Given the description of an element on the screen output the (x, y) to click on. 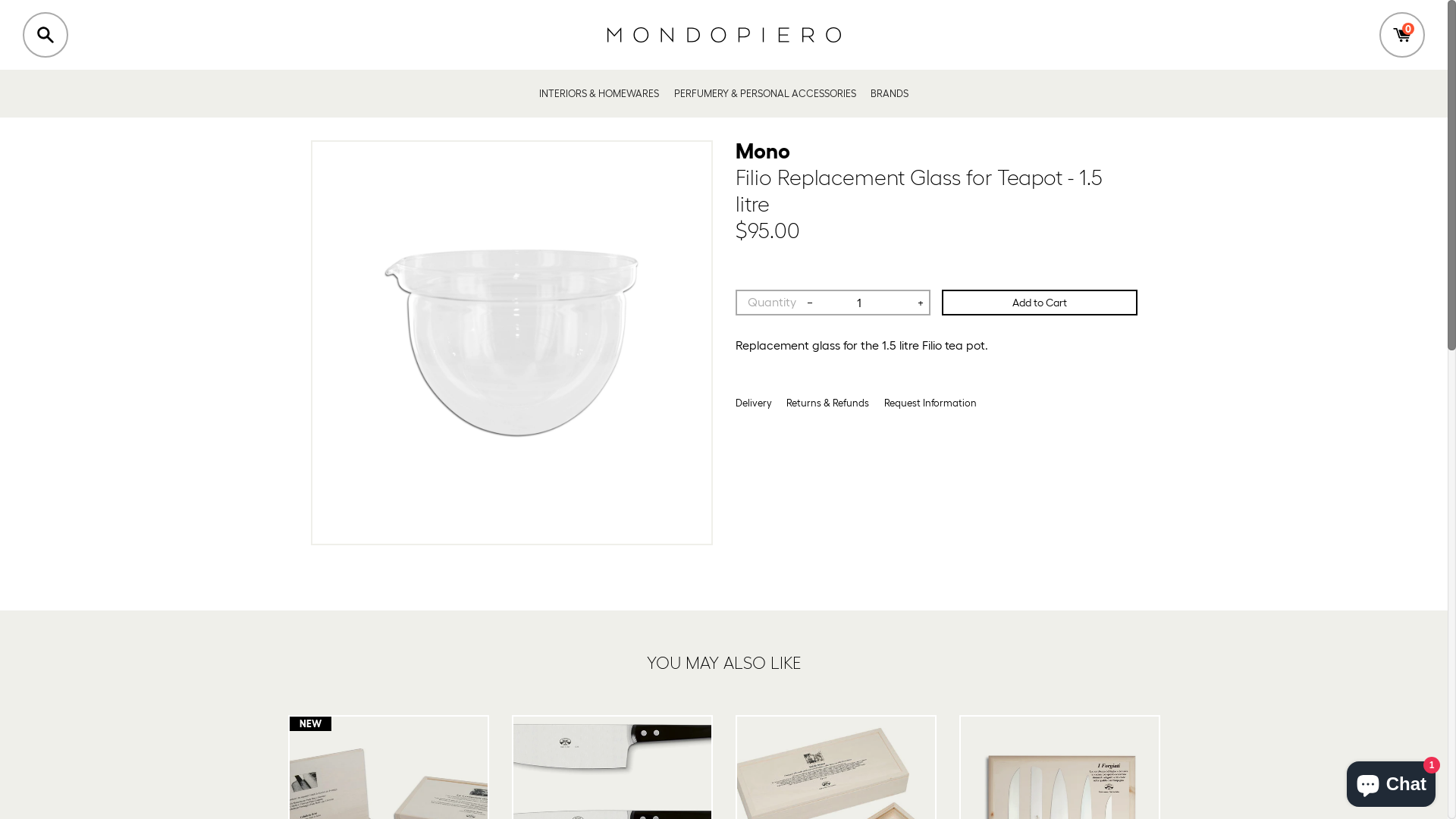
Delivery Element type: text (753, 402)
Add to Cart Element type: text (1039, 302)
INTERIORS & HOMEWARES Element type: text (598, 93)
+ Element type: text (919, 302)
PERFUMERY & PERSONAL ACCESSORIES Element type: text (764, 93)
Returns & Refunds Element type: text (827, 402)
Request Information Element type: text (930, 402)
Shopify online store chat Element type: hover (1391, 780)
0 Element type: text (1401, 34)
BRANDS Element type: text (889, 93)
